Given the description of an element on the screen output the (x, y) to click on. 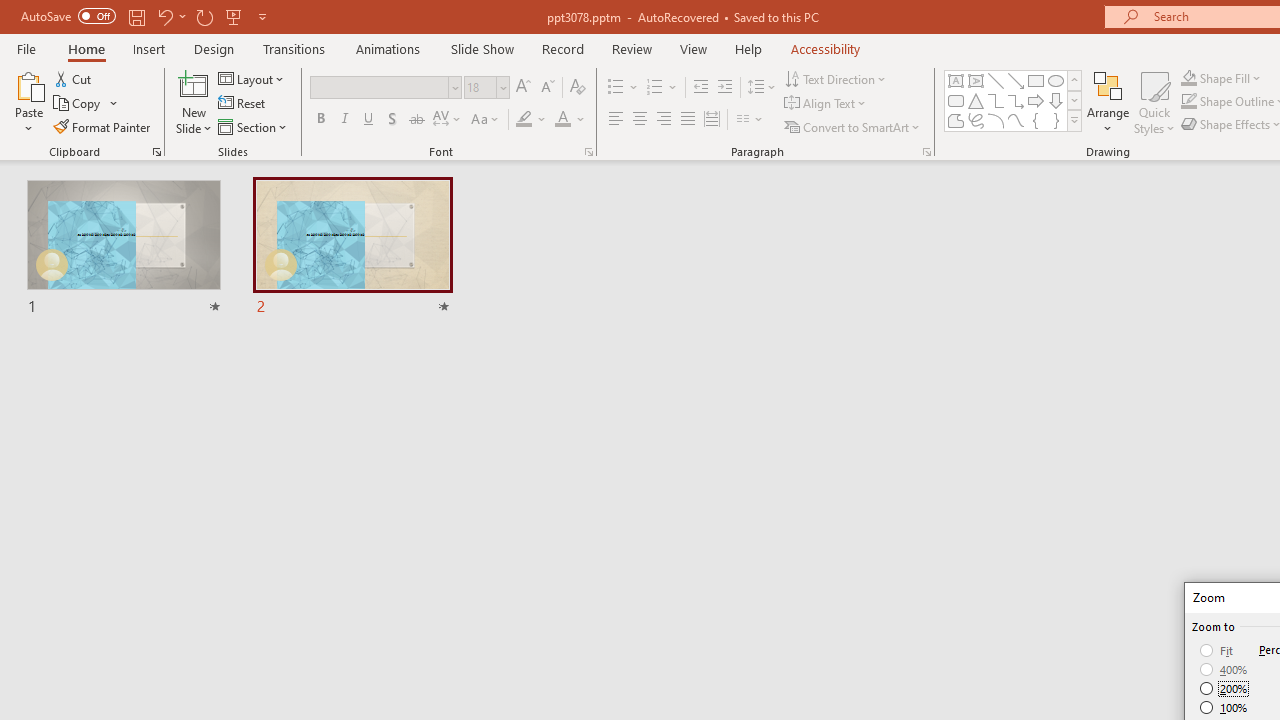
200% (1224, 688)
Shape Fill Dark Green, Accent 2 (1188, 78)
